Given the description of an element on the screen output the (x, y) to click on. 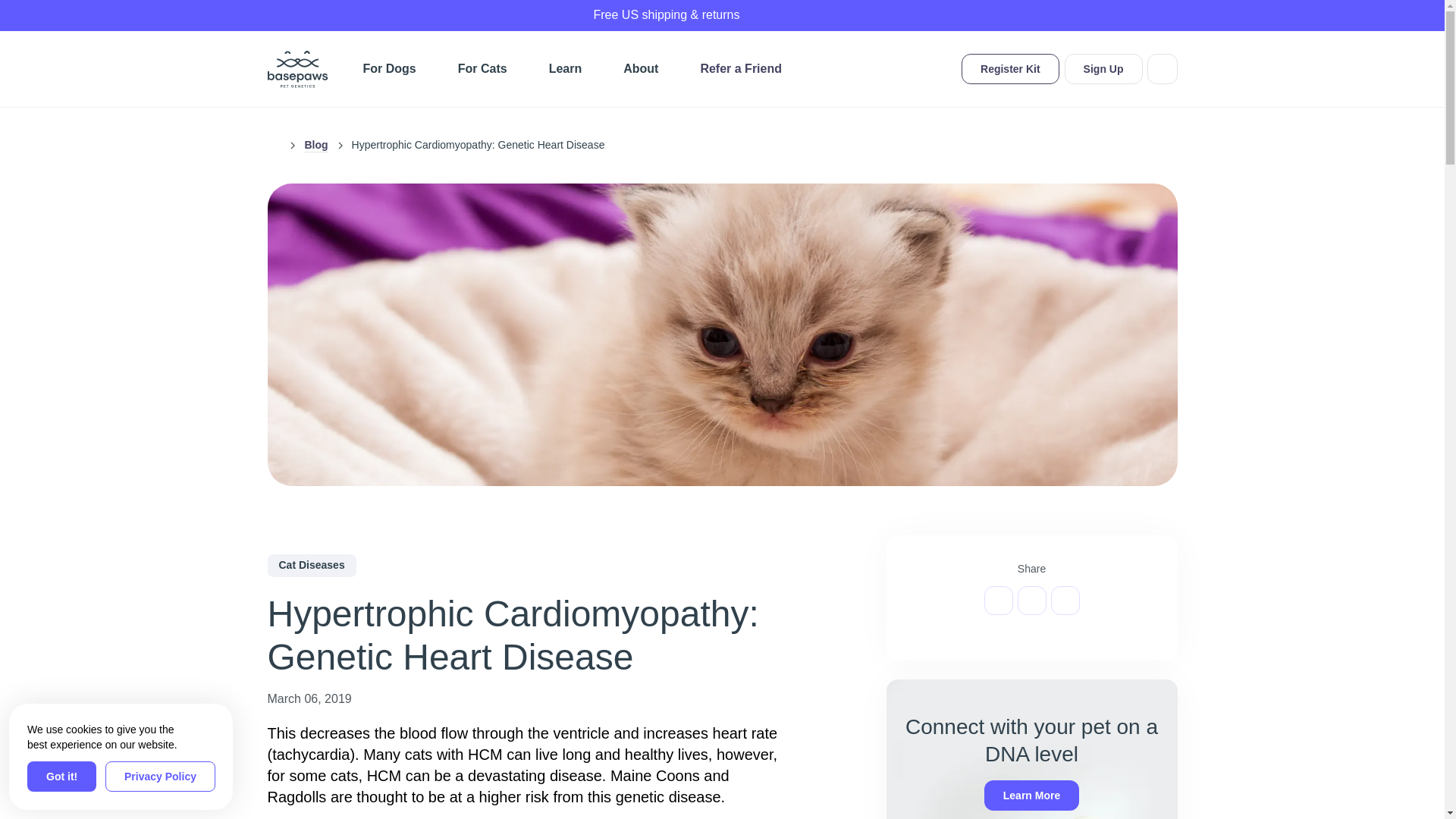
Got it! (61, 776)
Privacy Policy (159, 776)
Blog (315, 145)
Refer a Friend (740, 68)
Register Kit (1009, 69)
Sign Up (1103, 69)
